Given the description of an element on the screen output the (x, y) to click on. 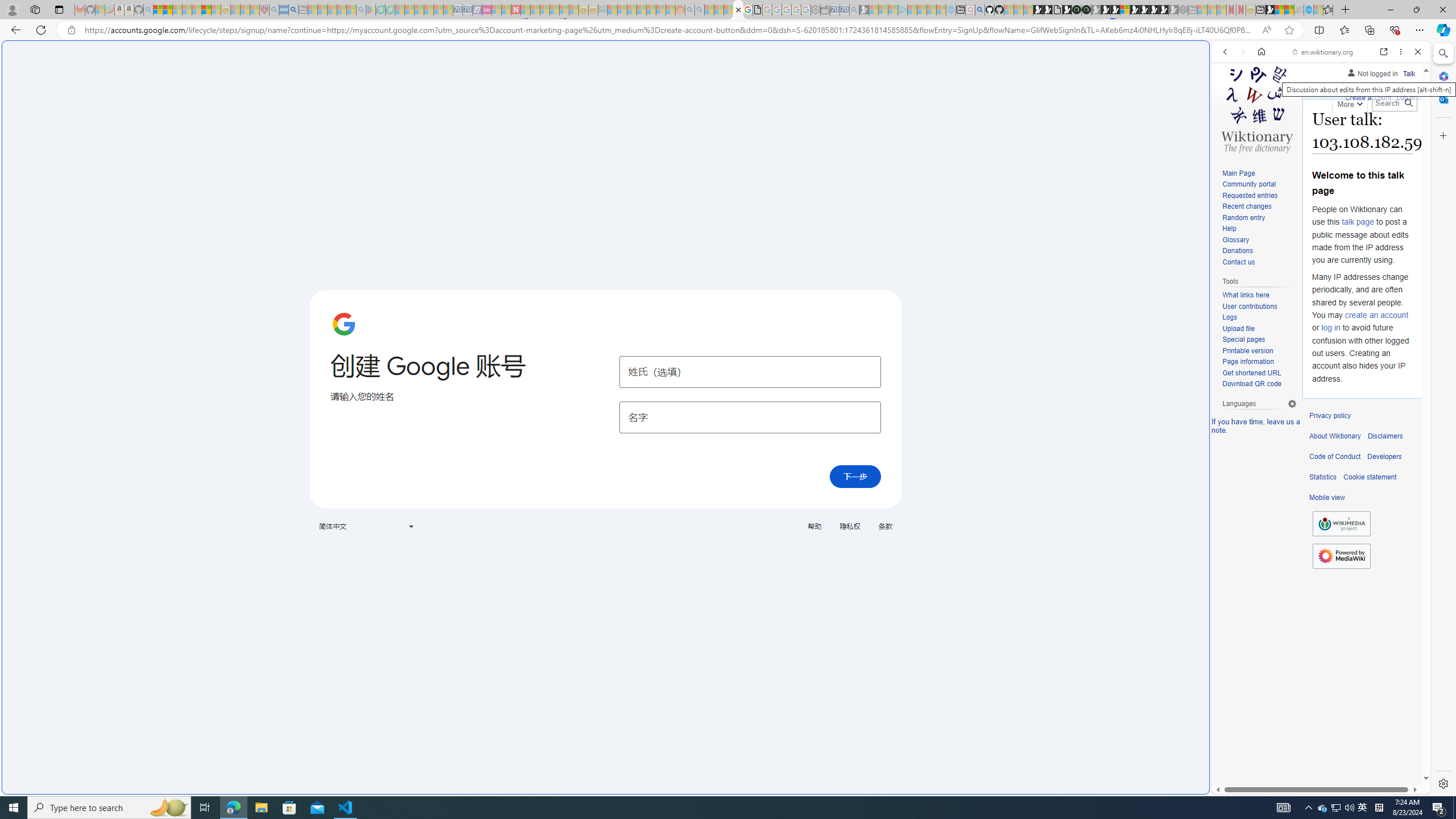
If you have time, leave us a note. (1255, 425)
Disclaimers (1385, 436)
Main Page (1238, 172)
Mobile view (1326, 497)
Sign in to your account (1124, 9)
Requested entries (1259, 196)
